Given the description of an element on the screen output the (x, y) to click on. 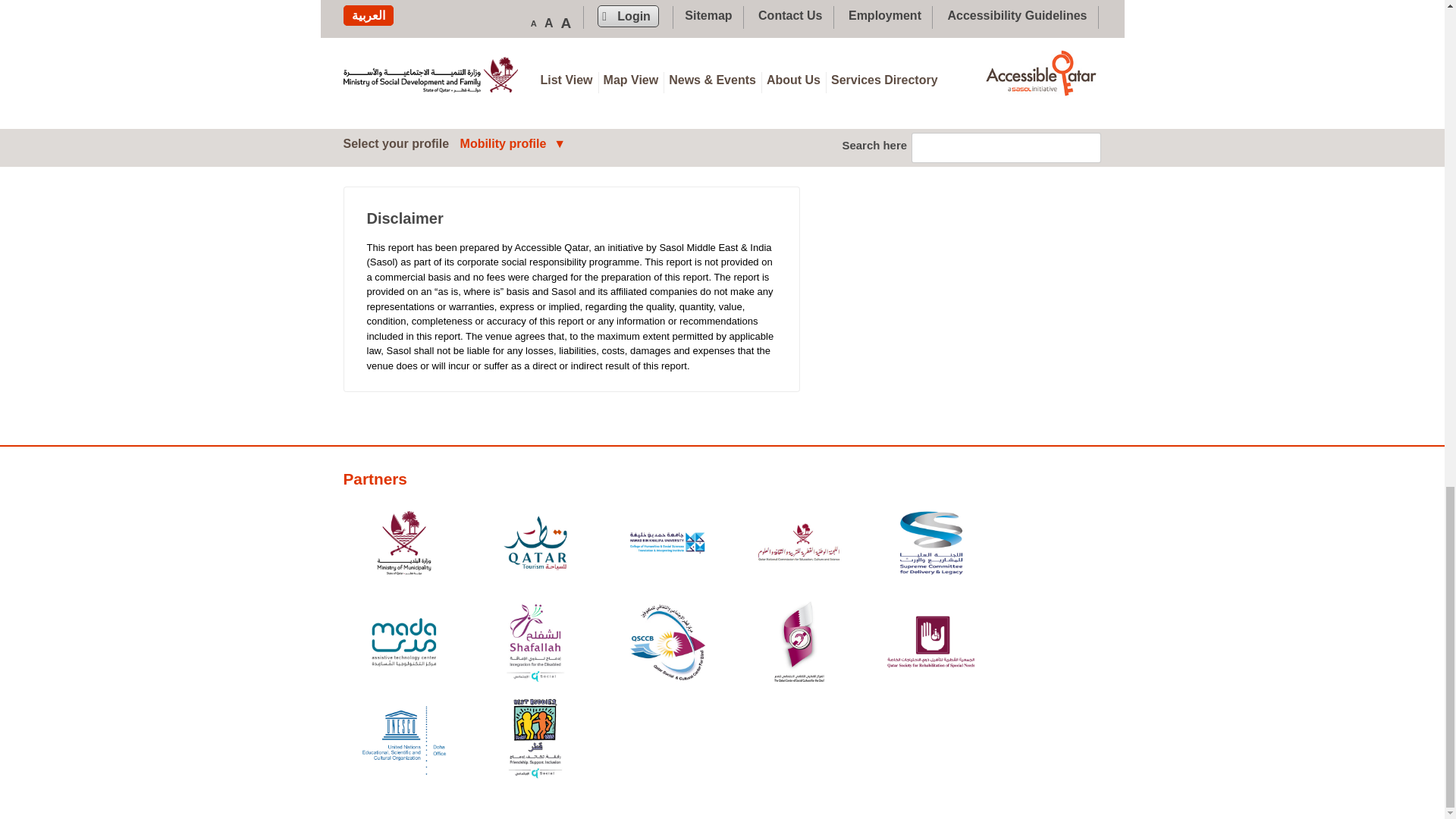
qatari center of social cultural for the deaf (799, 644)
Qatar Social and Cultural Center for Blind (667, 644)
Shafallah Center (534, 644)
logged in (440, 124)
Hamad bin Khalifa University (667, 544)
Qatar Tourism Authority (534, 544)
Qatar National Commission for Education, Culture and Science (799, 544)
